Given the description of an element on the screen output the (x, y) to click on. 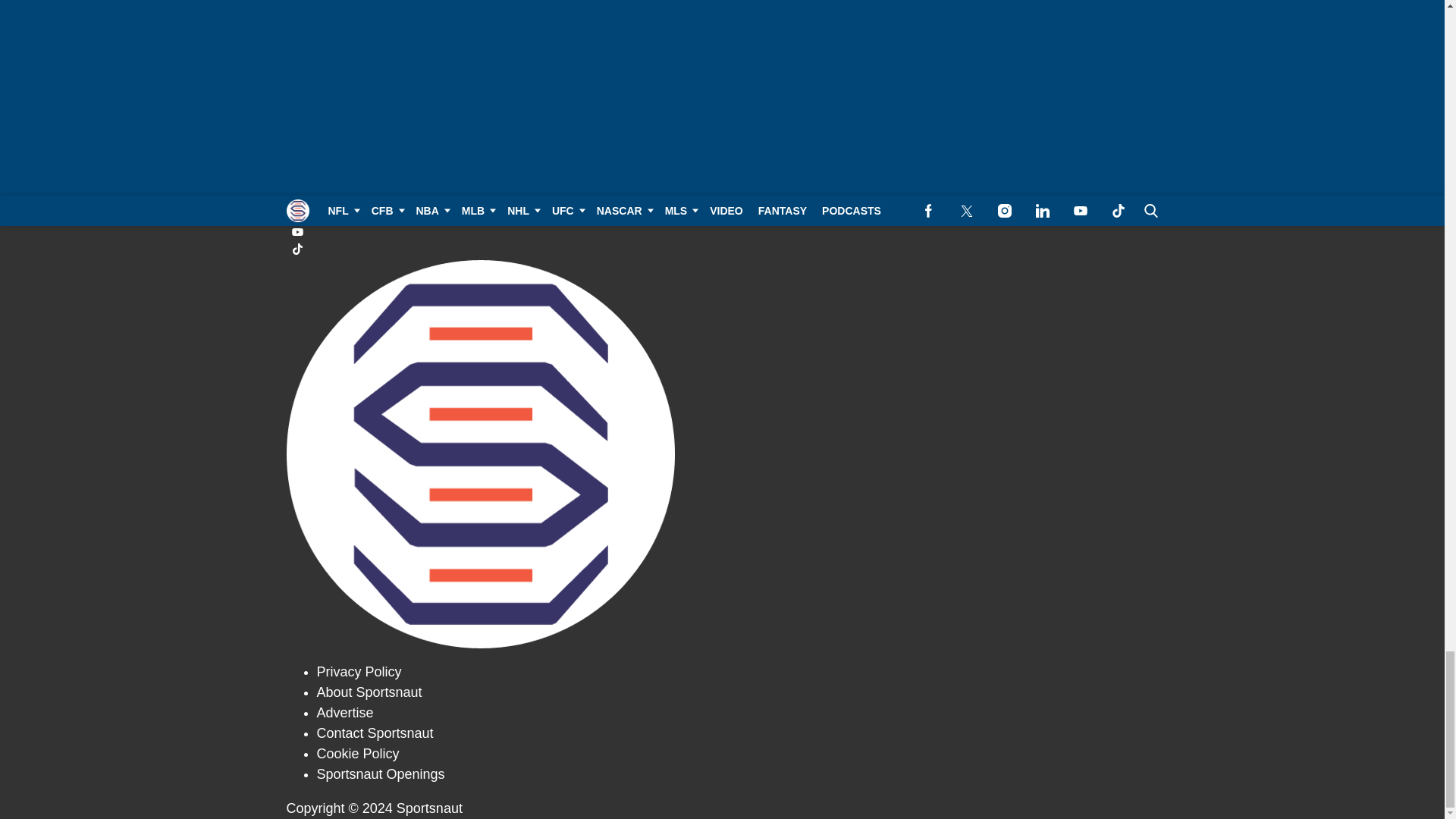
Connect with us on LinkedIn (722, 214)
Connect with us on TikTok (722, 248)
Follow us on Twitter (722, 180)
Follow us on Instagram (722, 197)
Follow us on Facebook (722, 163)
Subscribe to our YouTube channel (722, 231)
